Given the description of an element on the screen output the (x, y) to click on. 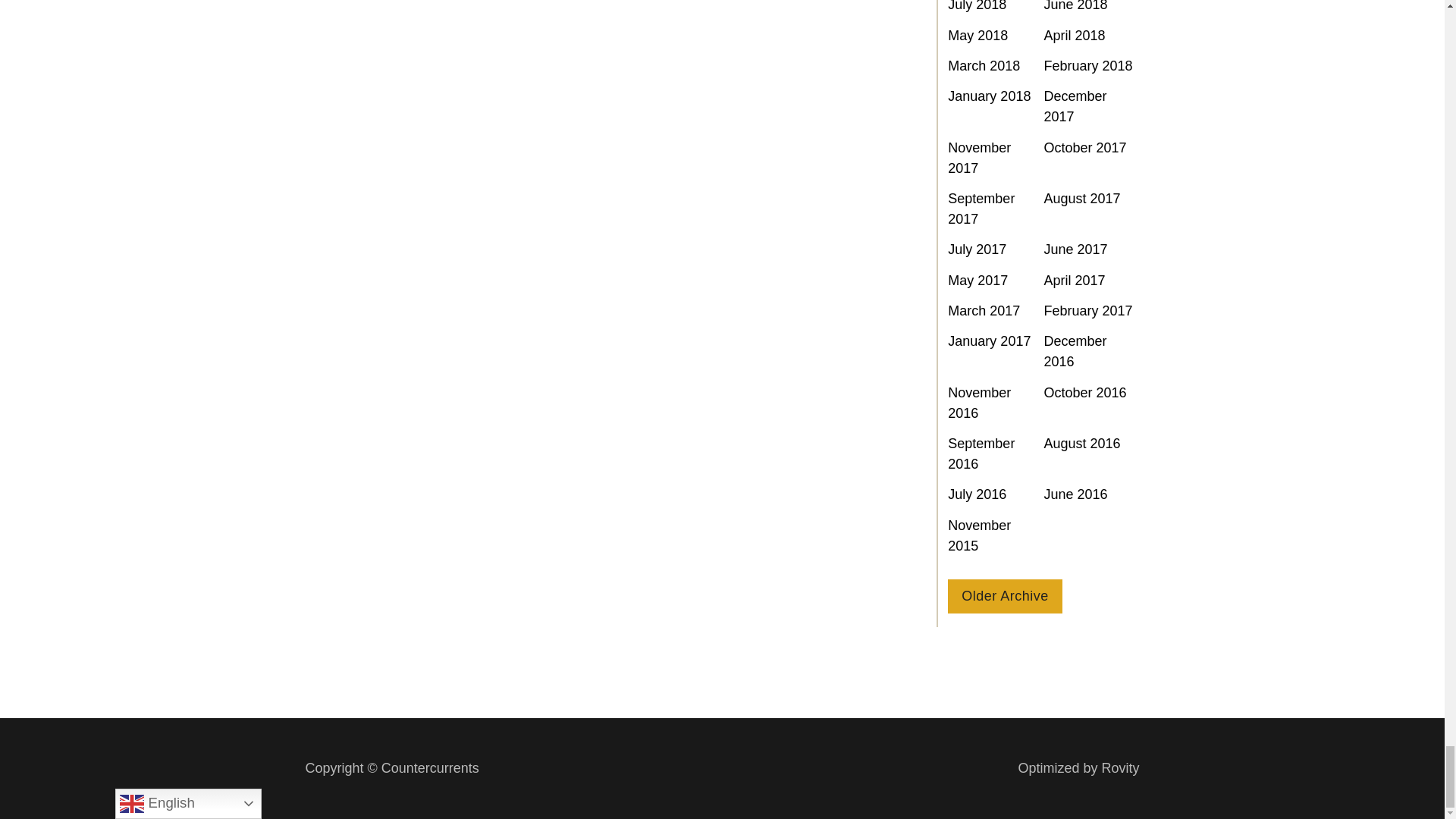
Rovity (1077, 768)
